Given the description of an element on the screen output the (x, y) to click on. 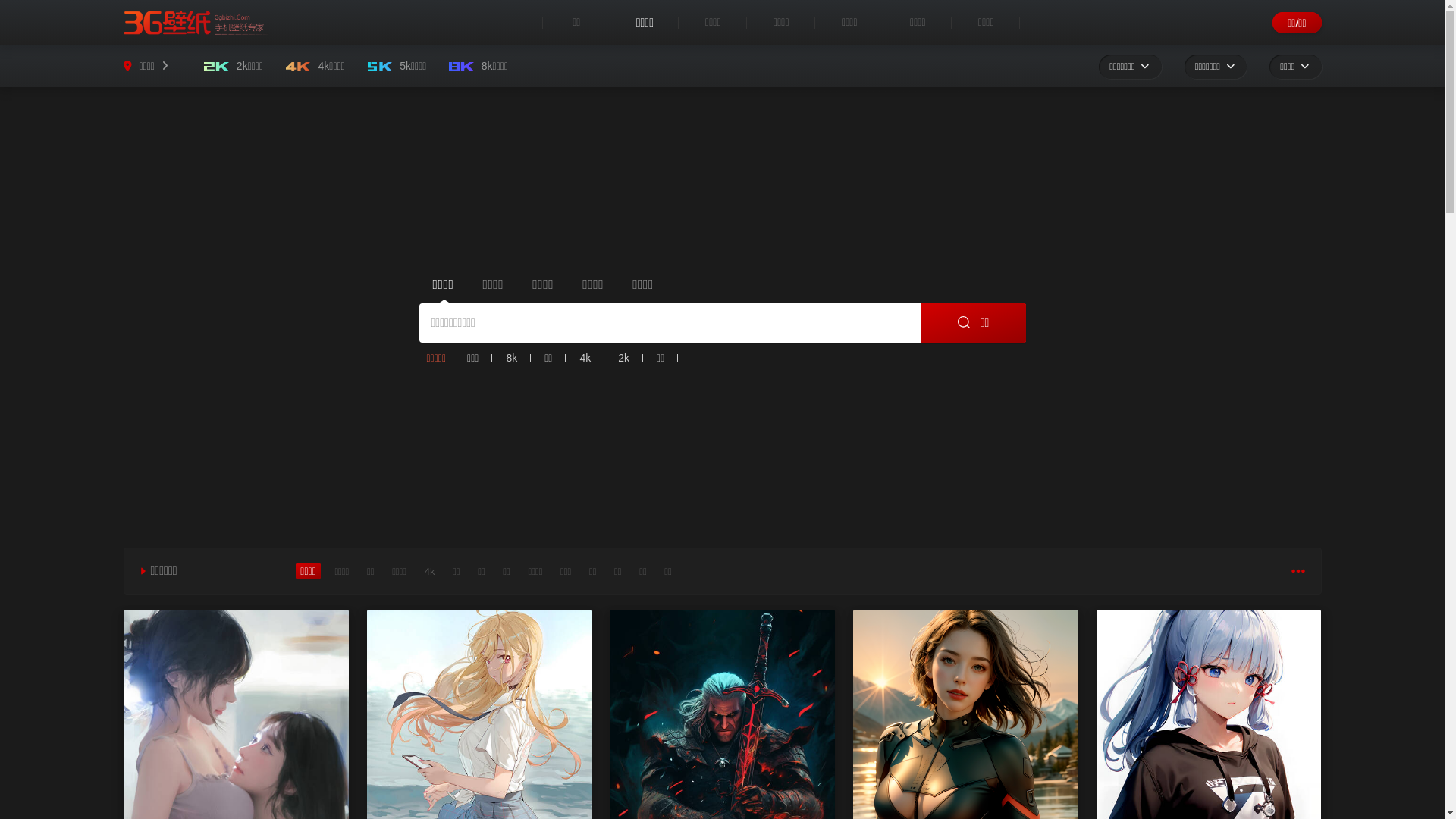
4k Element type: text (584, 357)
2k Element type: text (623, 357)
8k Element type: text (511, 357)
4k Element type: text (429, 571)
